Given the description of an element on the screen output the (x, y) to click on. 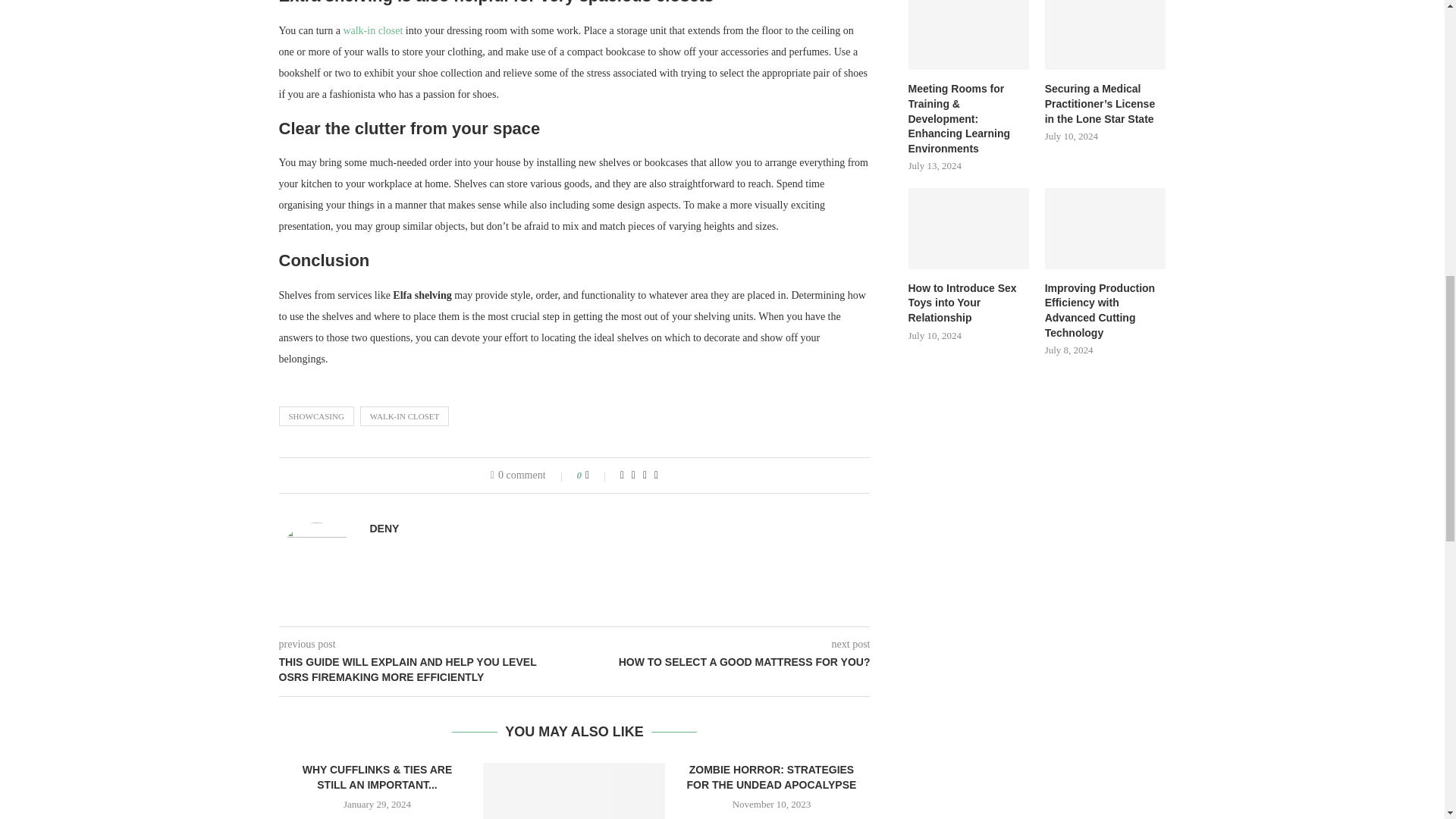
walk-in closet (372, 30)
Author deny (383, 528)
SHOWCASING (316, 415)
HOW TO SELECT A GOOD MATTRESS FOR YOU? (722, 662)
Like (597, 475)
WALK-IN CLOSET (403, 415)
DENY (383, 528)
ZOMBIE HORROR: STRATEGIES FOR THE UNDEAD APOCALYPSE (772, 777)
